Given the description of an element on the screen output the (x, y) to click on. 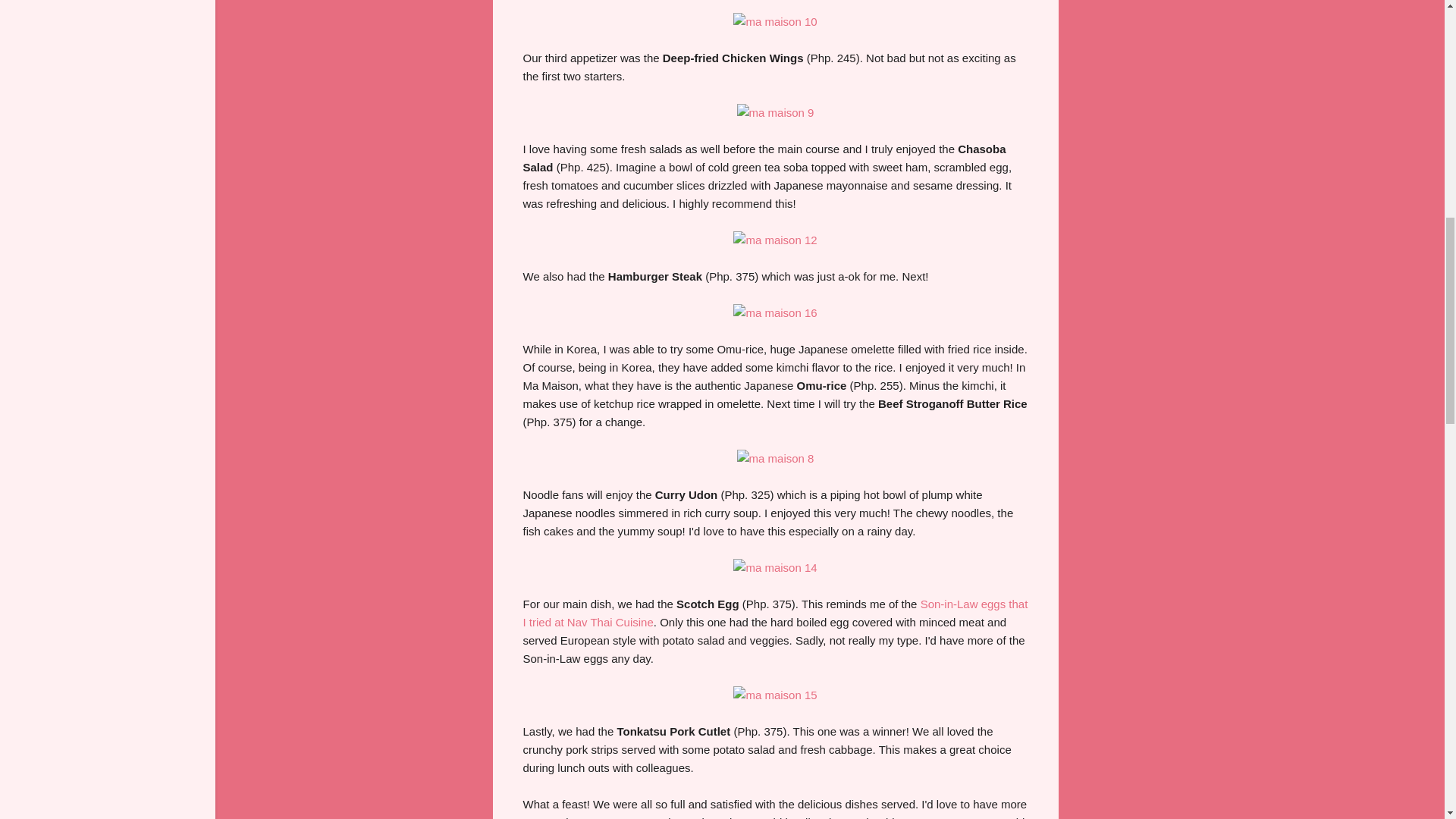
Son-in-Law eggs that I tried at Nav Thai Cuisine (774, 612)
ma maison 10 by frannywanny, on Flickr (774, 21)
ma maison 9 by frannywanny, on Flickr (774, 112)
ma maison 12 by frannywanny, on Flickr (774, 239)
